Given the description of an element on the screen output the (x, y) to click on. 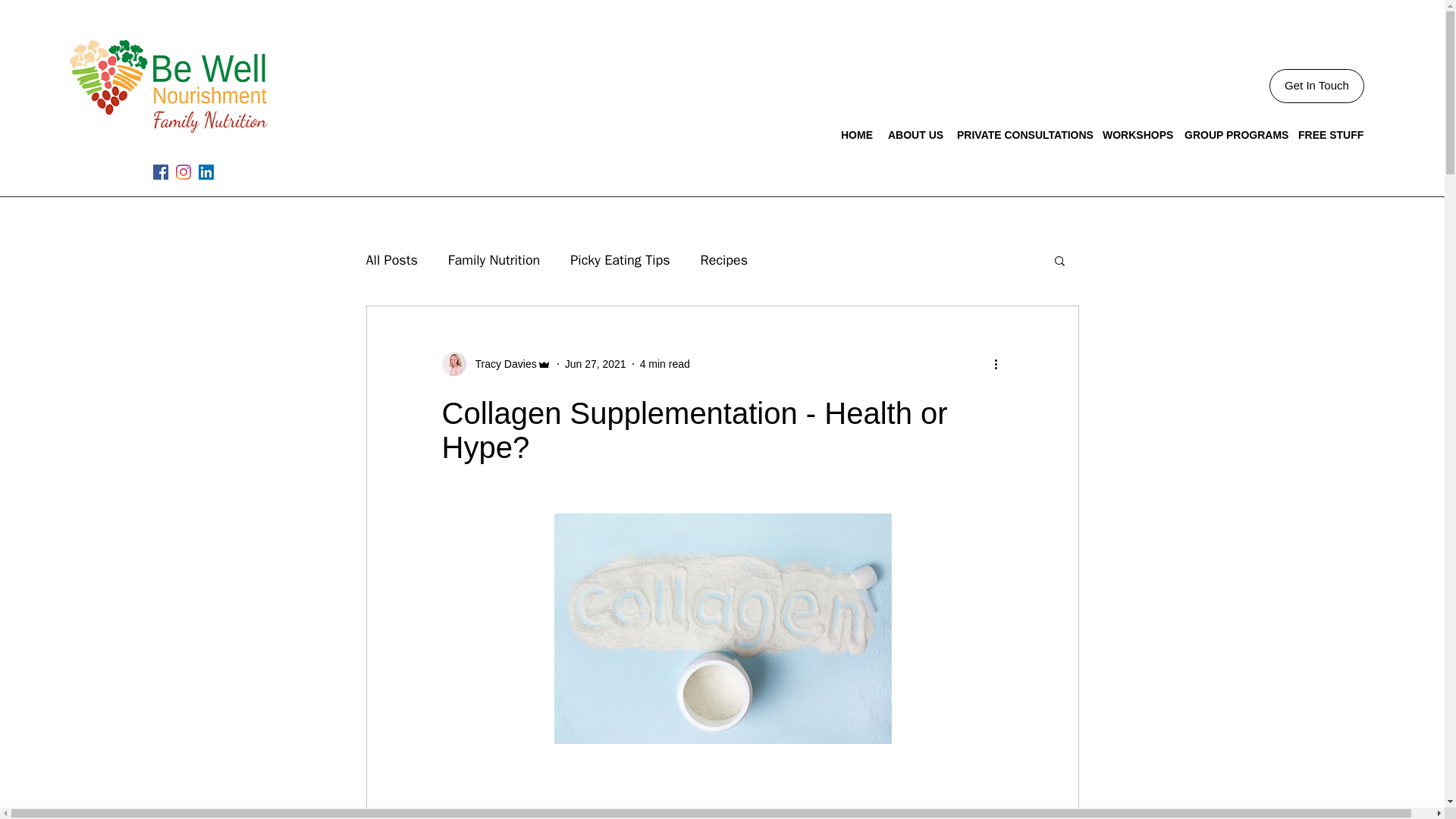
HOME (856, 134)
4 min read (665, 363)
Get In Touch (1316, 85)
Family Nutrition (494, 259)
Tracy Davies (500, 364)
Jun 27, 2021 (595, 363)
Picky Eating Tips (619, 259)
All Posts (390, 259)
FREE STUFF (1327, 134)
WORKSHOPS (1135, 134)
